Given the description of an element on the screen output the (x, y) to click on. 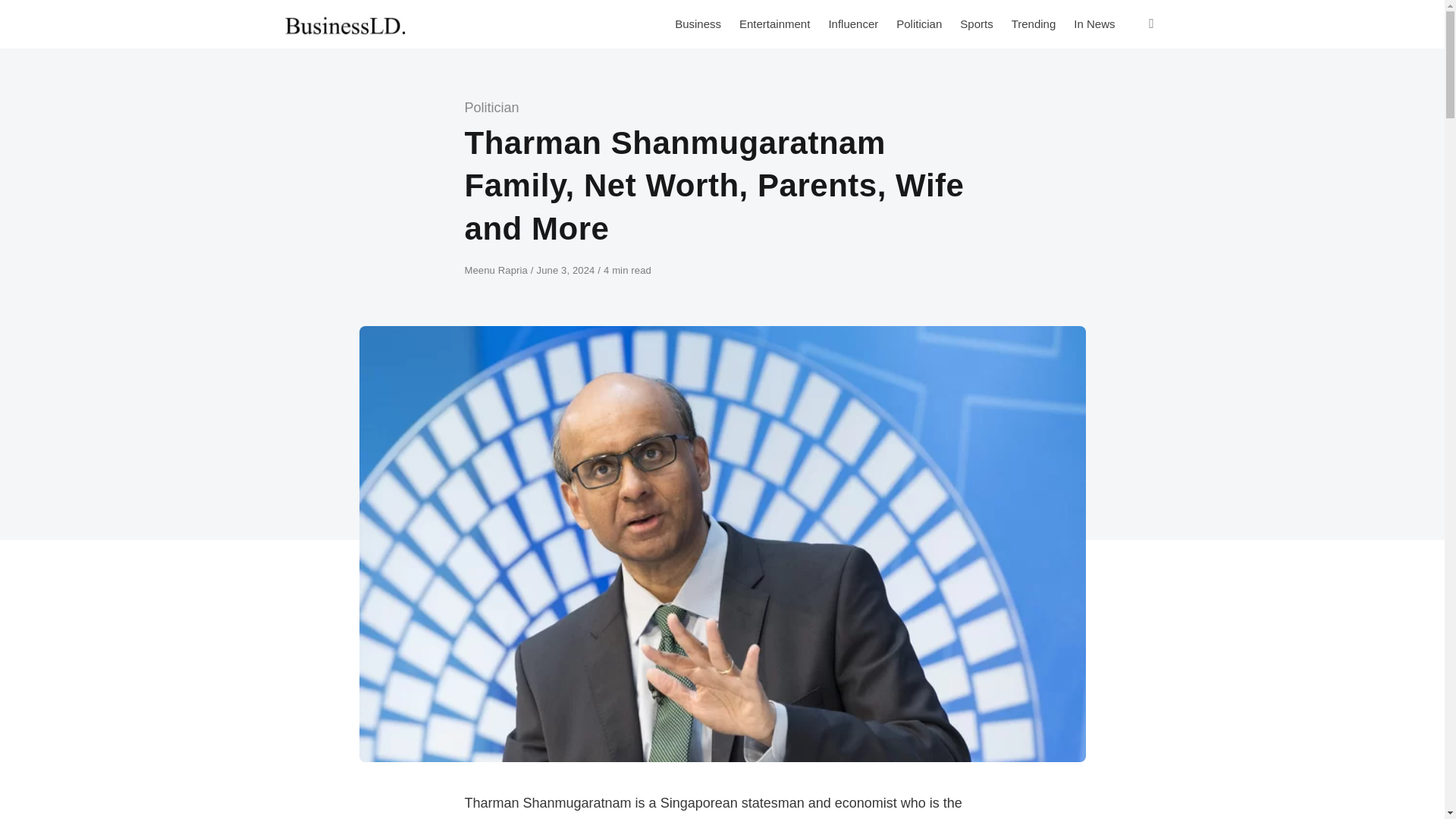
Sports (975, 24)
Business (697, 24)
Politician (918, 24)
Meenu Rapria (496, 270)
June 3, 2024 (565, 270)
June 3, 2024 (565, 270)
Entertainment (774, 24)
Politician (491, 107)
Trending (1034, 24)
